Given the description of an element on the screen output the (x, y) to click on. 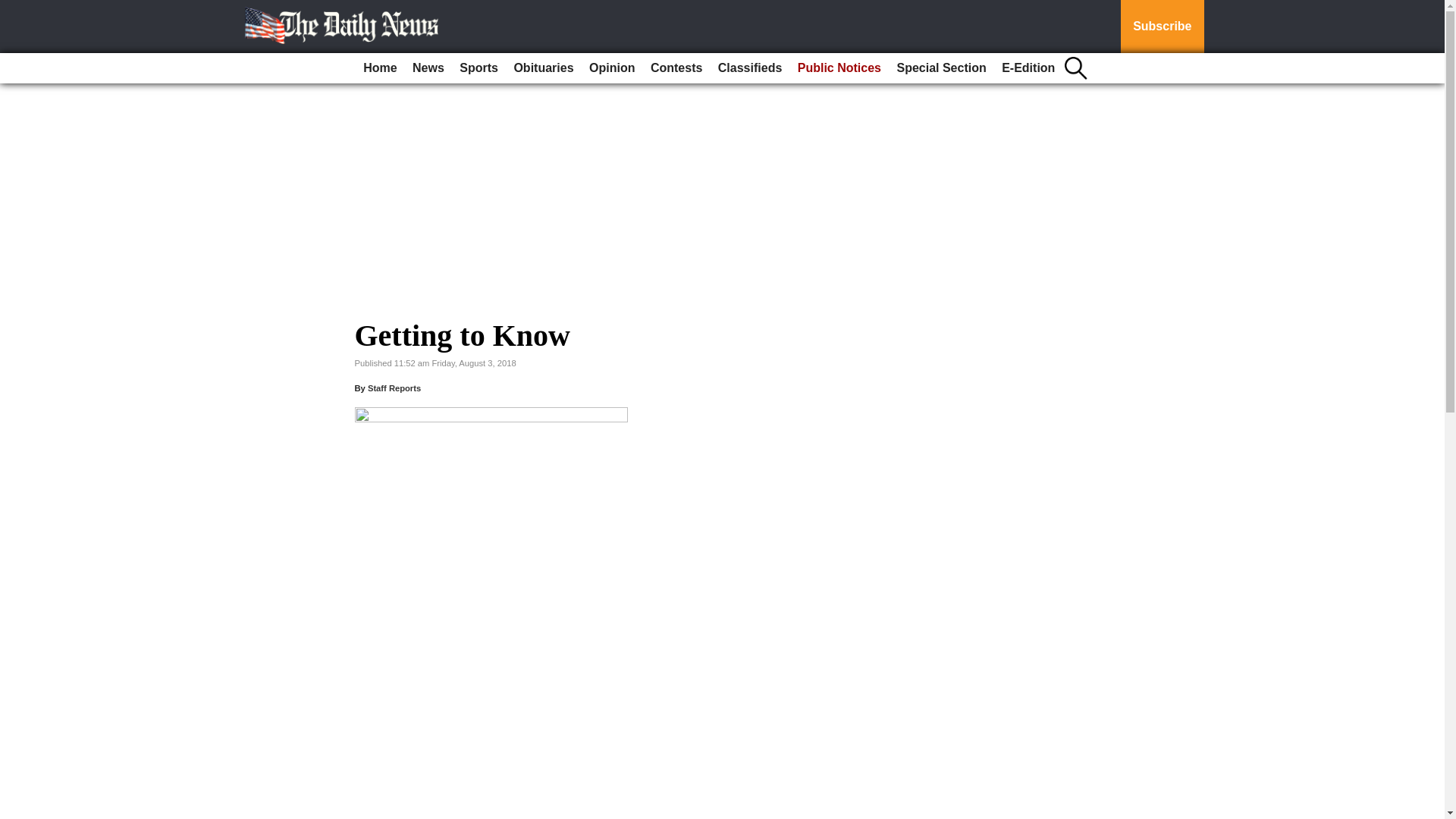
Classifieds (749, 68)
Obituaries (542, 68)
Subscribe (1162, 26)
Staff Reports (394, 388)
News (427, 68)
Go (13, 9)
Public Notices (839, 68)
Opinion (611, 68)
Sports (477, 68)
Home (379, 68)
